Given the description of an element on the screen output the (x, y) to click on. 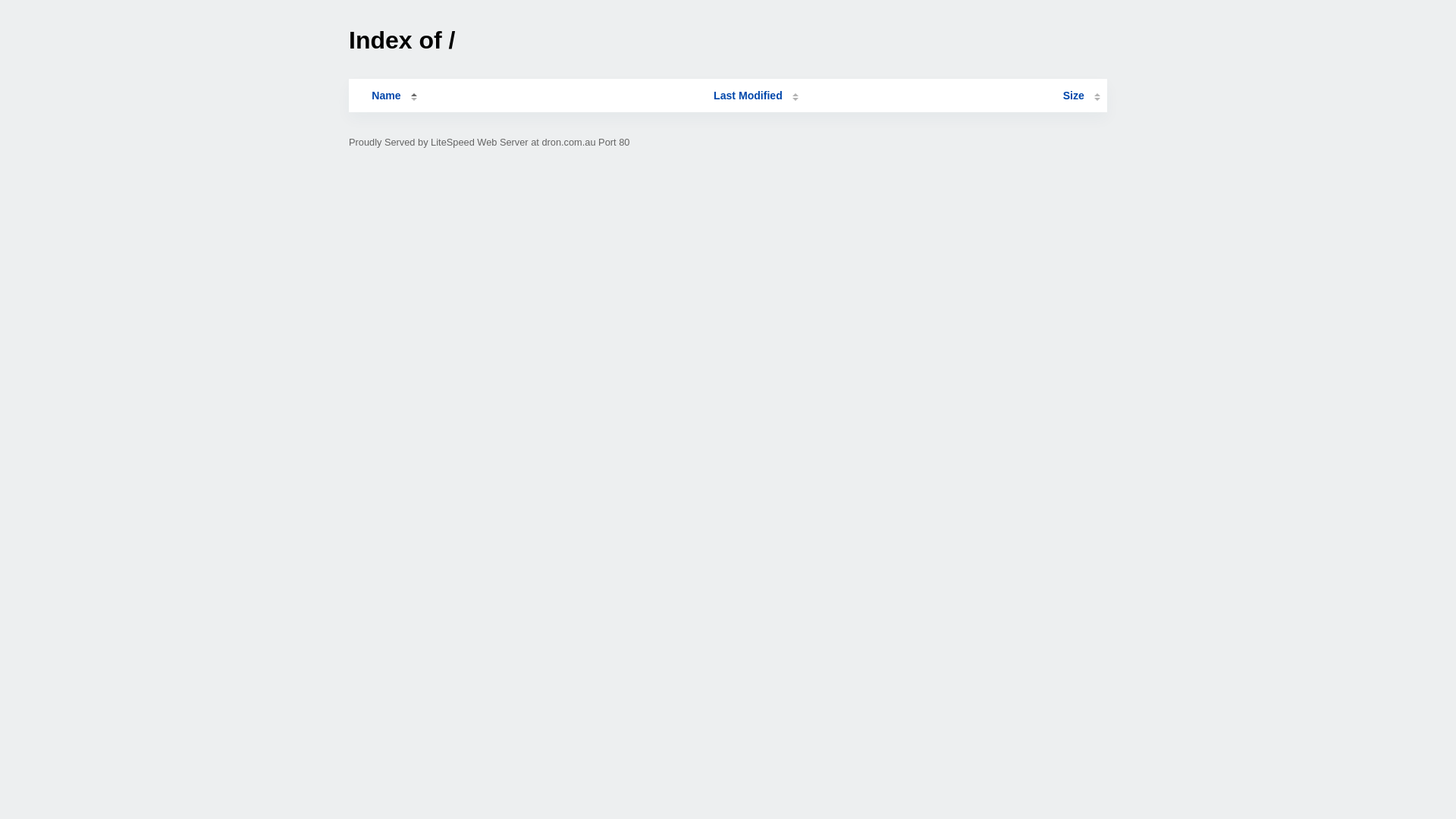
Last Modified Element type: text (755, 95)
Size Element type: text (1081, 95)
Name Element type: text (385, 95)
